Given the description of an element on the screen output the (x, y) to click on. 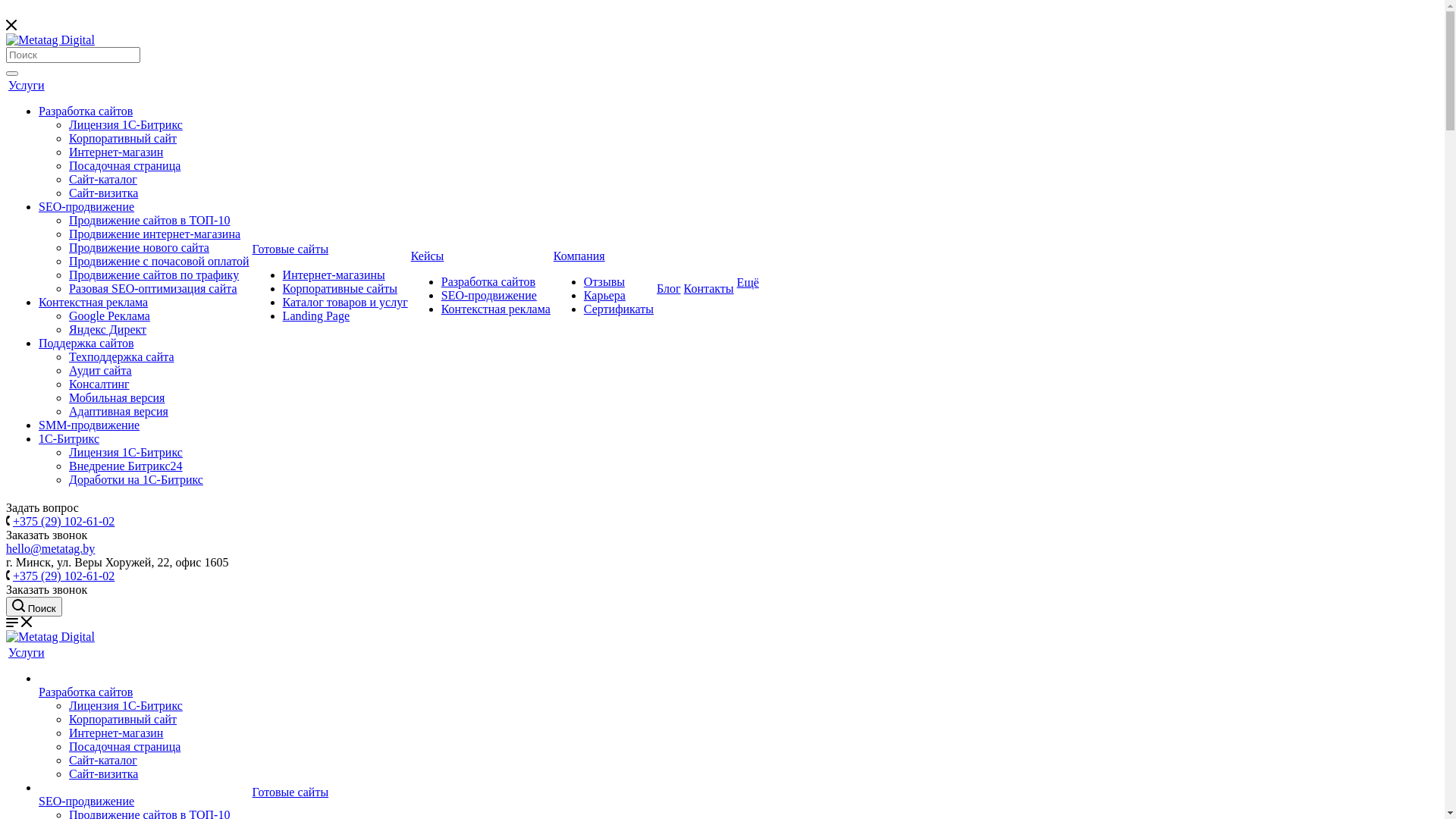
hello@metatag.by Element type: text (50, 548)
+375 (29) 102-61-02 Element type: text (63, 520)
+375 (29) 102-61-02 Element type: text (63, 575)
Metatag Digital Element type: hover (50, 40)
Metatag Digital Element type: hover (50, 636)
Landing Page Element type: text (315, 315)
